Given the description of an element on the screen output the (x, y) to click on. 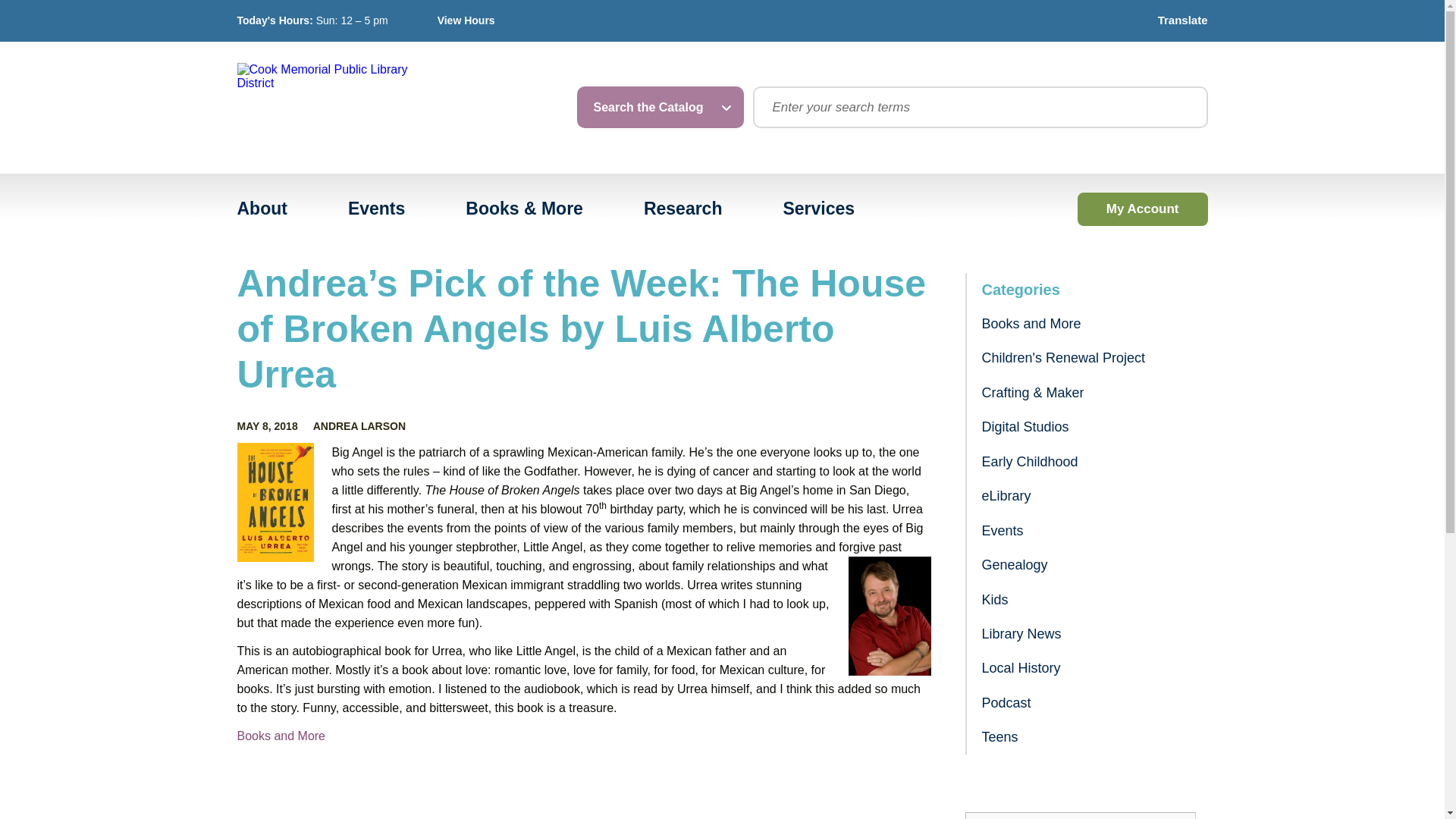
About (261, 209)
Events (376, 209)
Please fill in this field. (1079, 815)
